Given the description of an element on the screen output the (x, y) to click on. 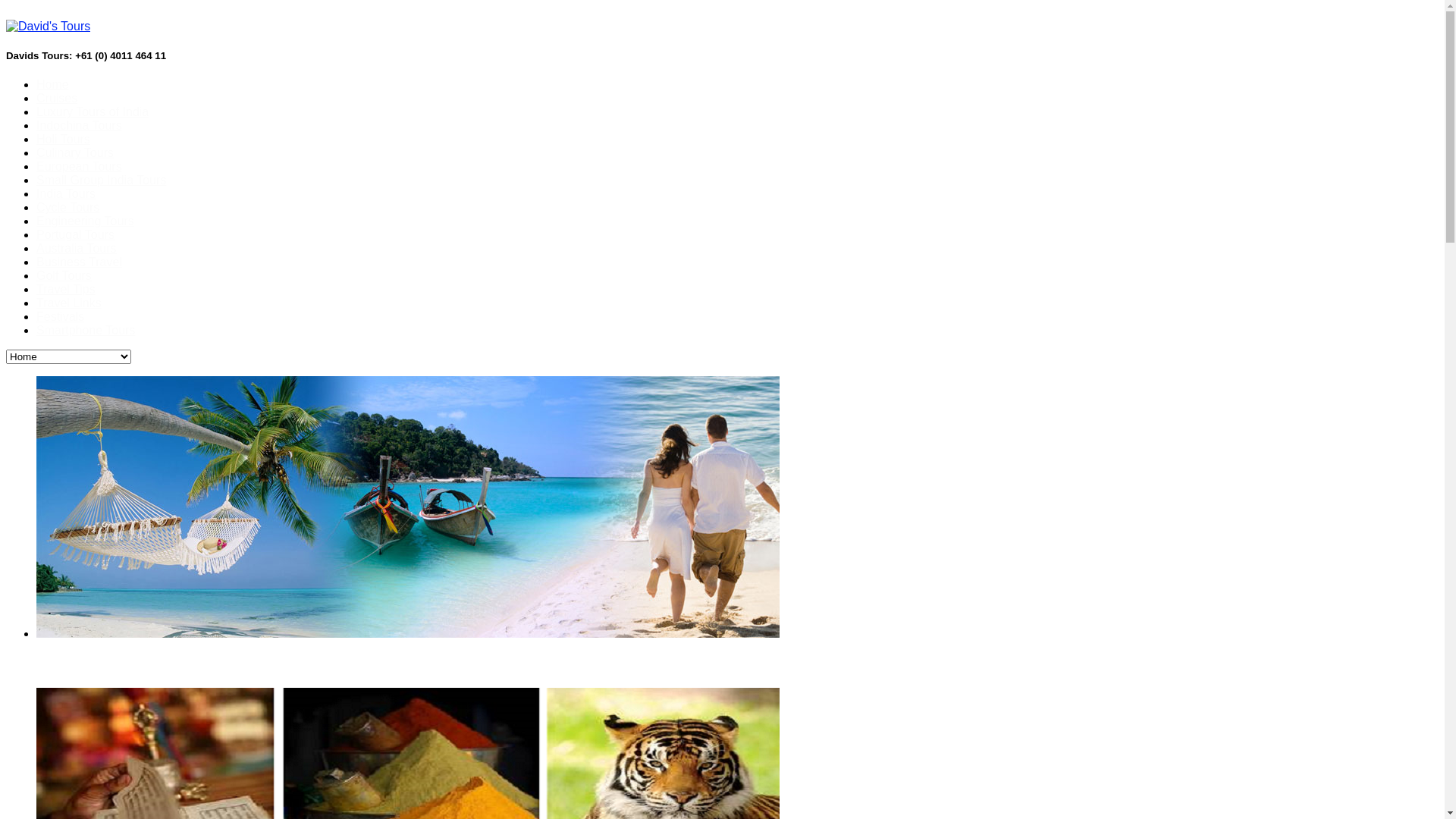
Cruises Element type: text (56, 97)
Culinary Tours Element type: text (74, 152)
Golf Tours Element type: text (63, 275)
India Tours Element type: text (65, 193)
 Wellness Tours Element type: text (736, 665)
Smartphone Tours Element type: text (85, 329)
Business Travel Element type: text (79, 261)
Festivals Element type: text (60, 316)
Luxury Tours of India Element type: text (92, 111)
Holi Tours Element type: text (63, 138)
Cycle Tours Element type: text (67, 206)
Portugal Tours Element type: text (75, 234)
Engineering Tours Element type: text (85, 220)
Australia Tours Element type: text (76, 247)
Small Group India Tours Element type: text (101, 179)
Travel Tips Element type: text (65, 288)
Indochina Tours Element type: text (79, 125)
European Tours Element type: text (79, 166)
Travel Links Element type: text (68, 302)
Home Element type: text (52, 84)
